Given the description of an element on the screen output the (x, y) to click on. 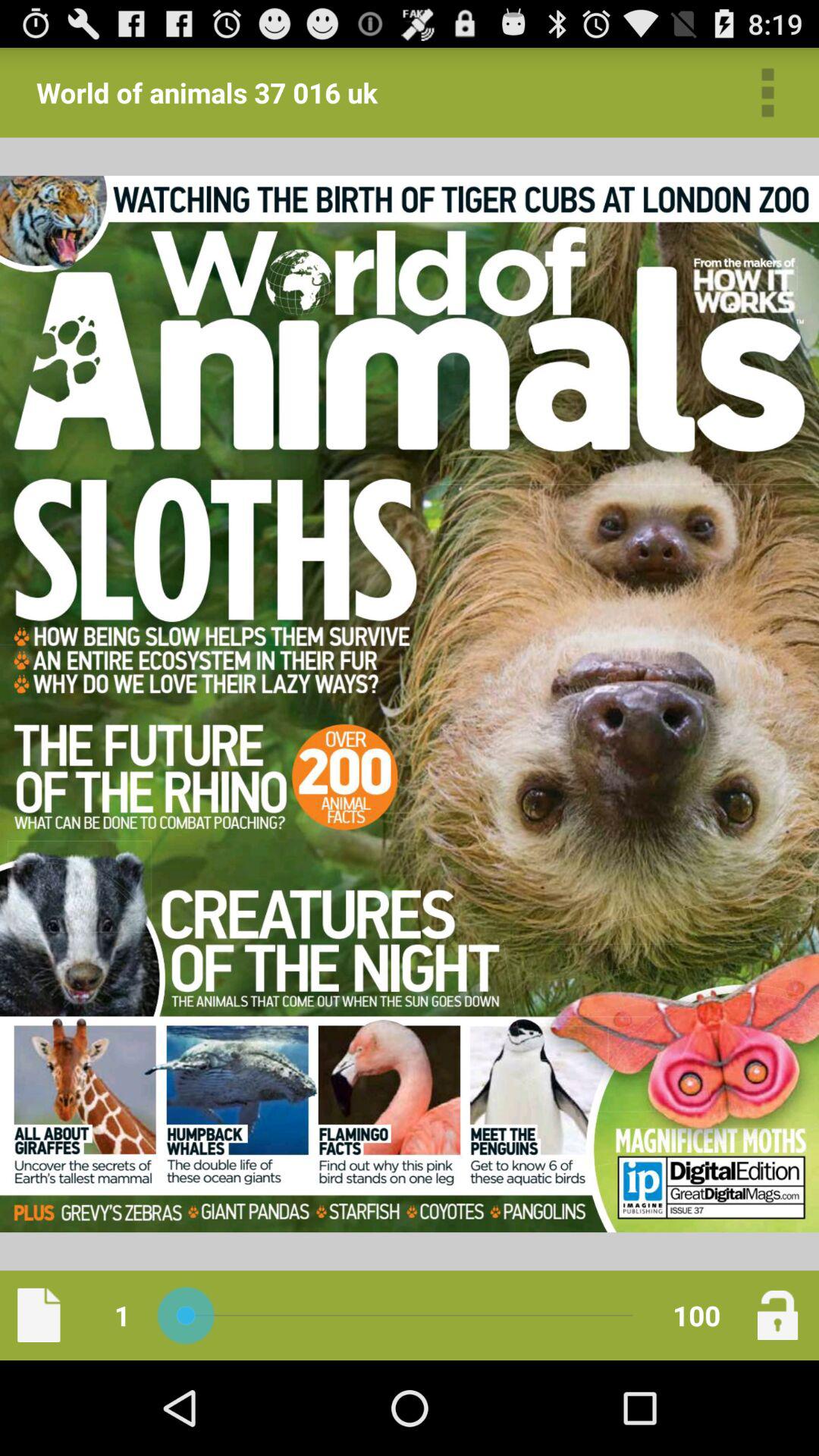
lock (777, 1315)
